Given the description of an element on the screen output the (x, y) to click on. 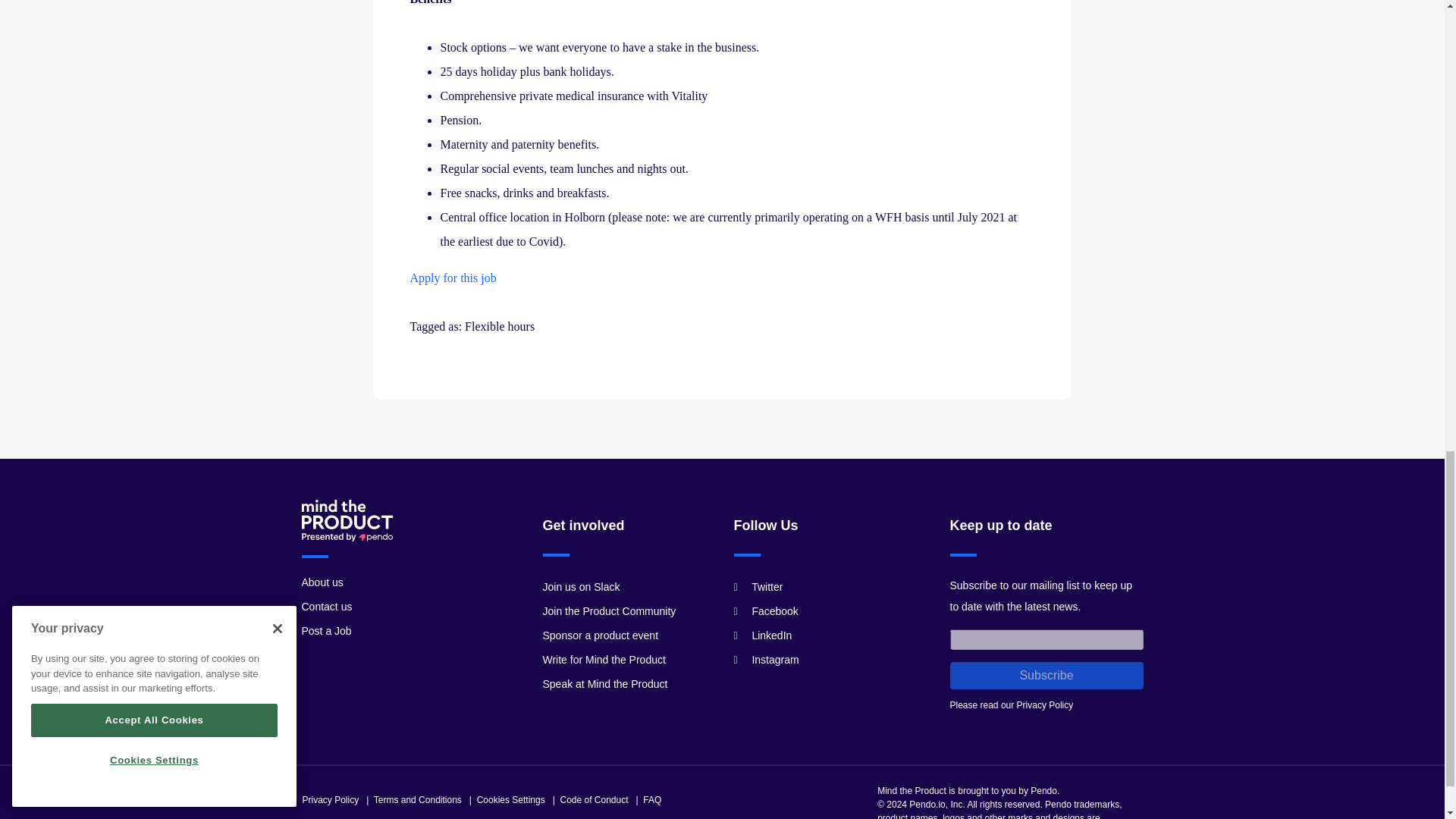
Mind The Product (347, 520)
Post a Job (326, 630)
Write for Mind the Product (604, 659)
Terms and Conditions (417, 799)
Speak at Mind the Product (605, 684)
Contact us (326, 606)
Privacy Policy (329, 799)
Privacy Policy (1045, 705)
Facebook (765, 611)
Apply for this job (452, 277)
Sponsor a product event (601, 635)
Join us on Slack (581, 586)
Instagram (766, 659)
Subscribe (1045, 675)
Twitter (758, 586)
